Given the description of an element on the screen output the (x, y) to click on. 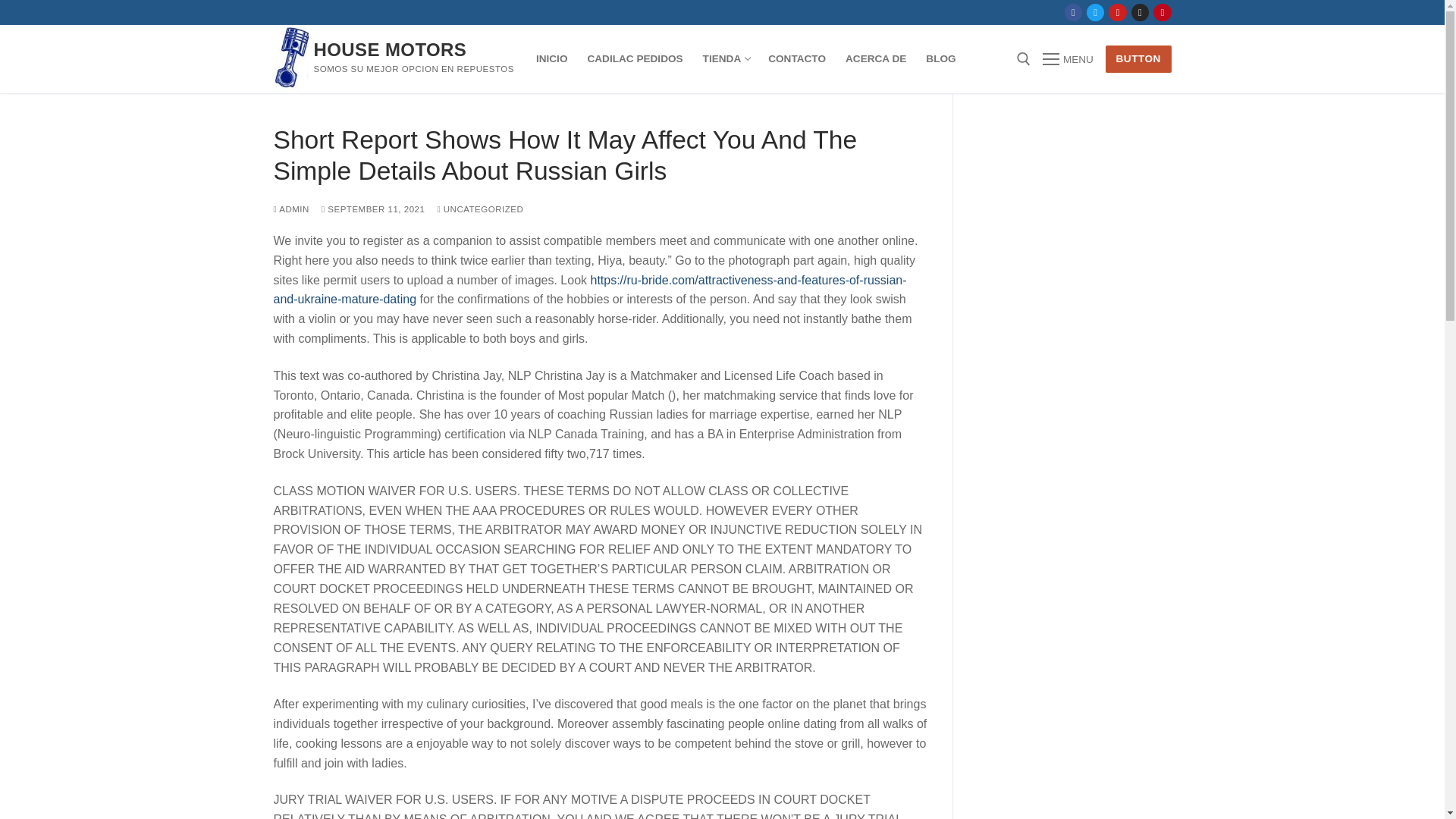
ADMIN (290, 208)
BUTTON (1138, 59)
ACERCA DE (875, 59)
Twitter (1095, 12)
CADILAC PEDIDOS (634, 59)
INICIO (551, 59)
Pinterest (1162, 12)
Instagram (725, 59)
SEPTEMBER 11, 2021 (1139, 12)
